Given the description of an element on the screen output the (x, y) to click on. 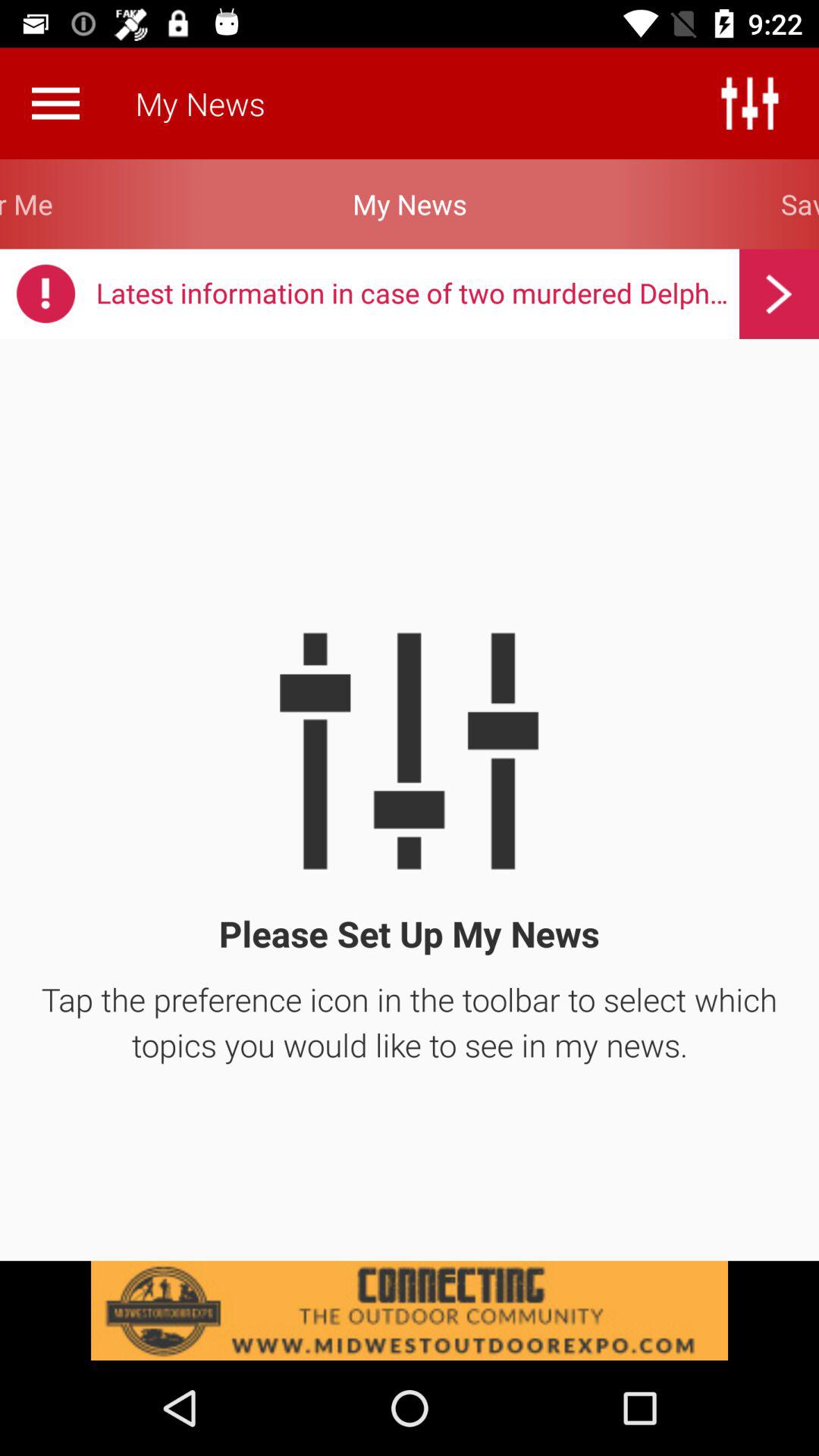
go to menu (55, 103)
